Given the description of an element on the screen output the (x, y) to click on. 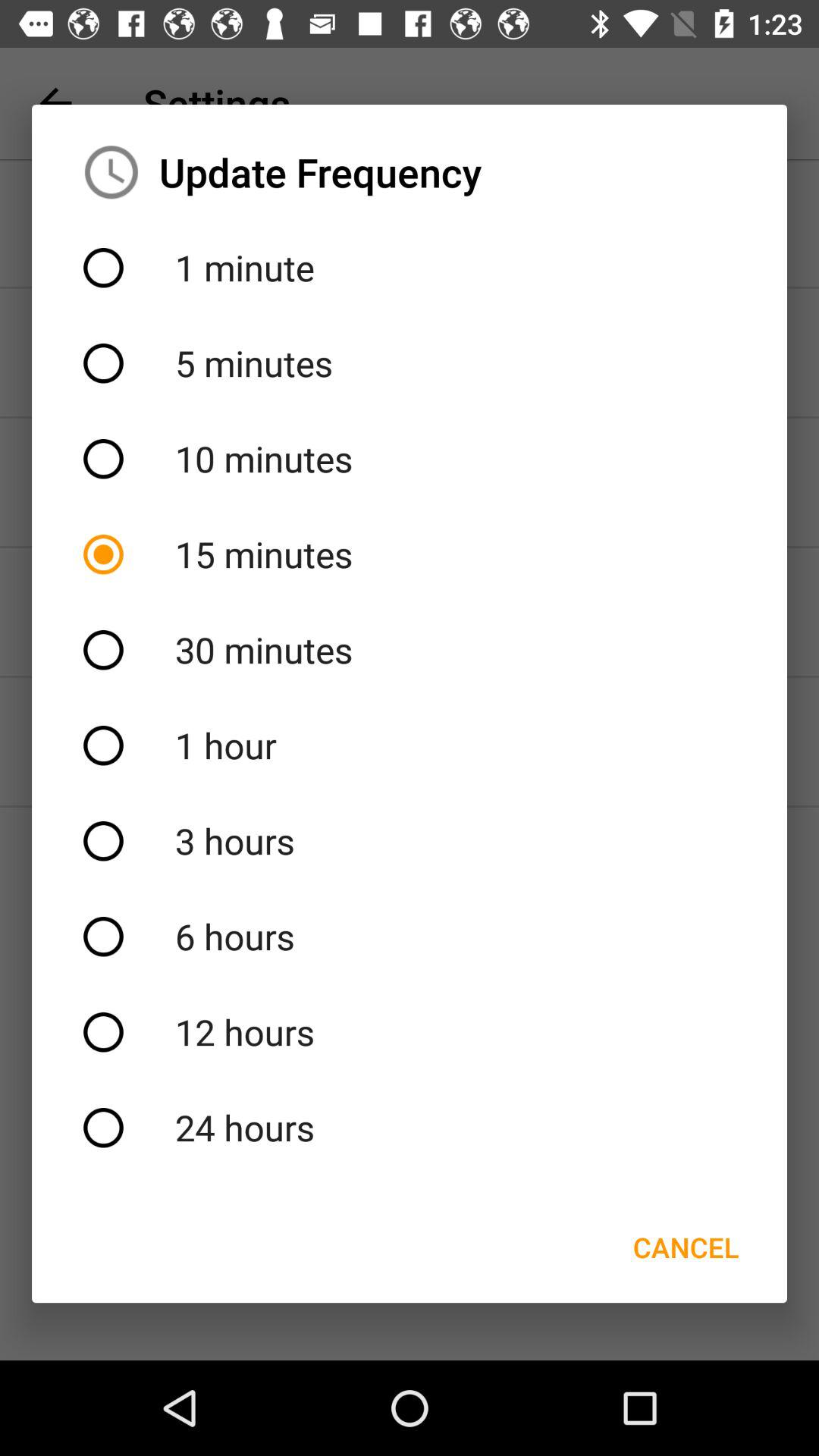
turn on the item above 24 hours (409, 1032)
